Given the description of an element on the screen output the (x, y) to click on. 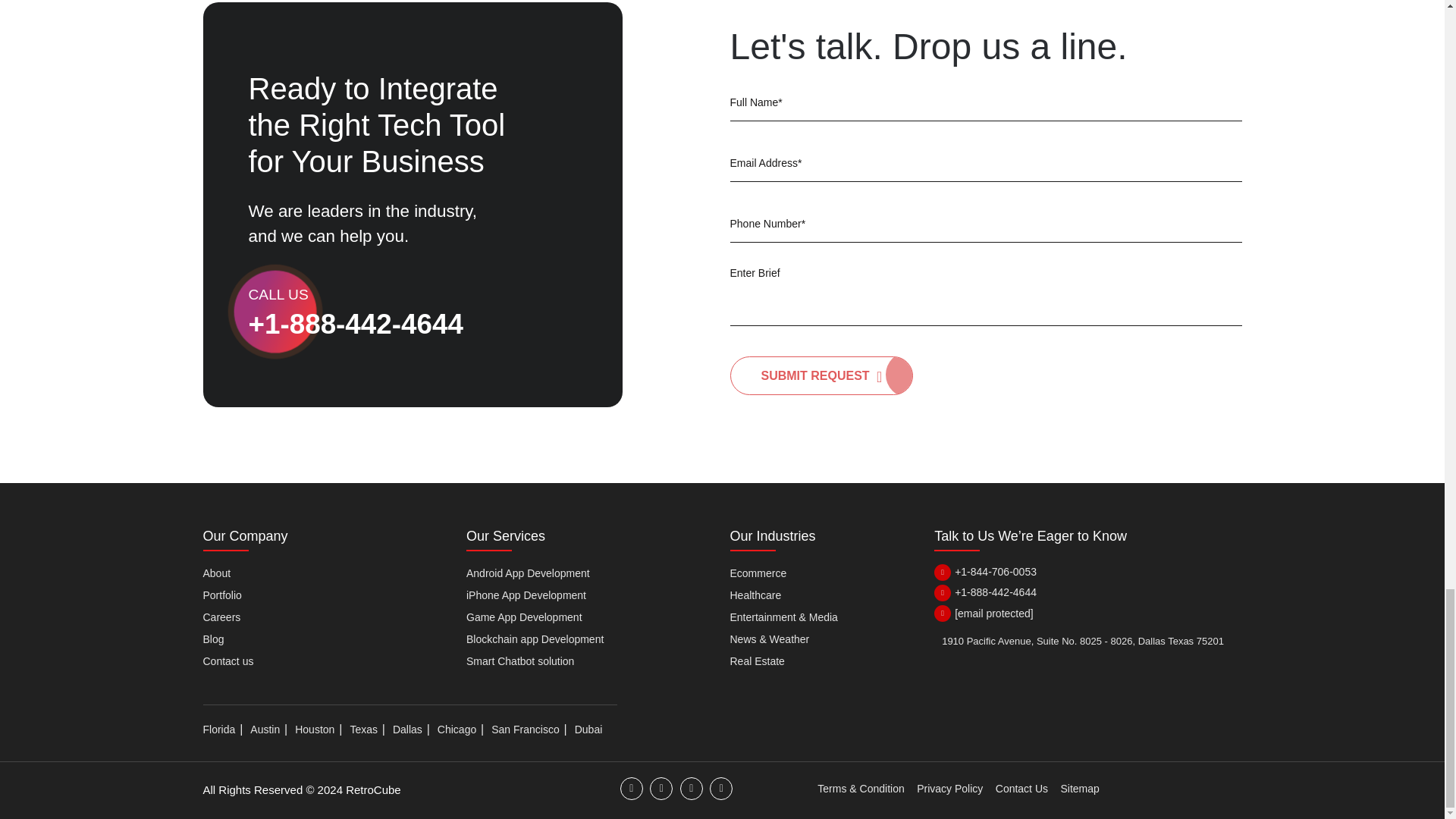
iPhone App Development (525, 594)
Blockchain app Development (534, 639)
About (217, 573)
Blog (213, 639)
Contact us (228, 661)
Careers (222, 616)
SUBMIT REQUEST (820, 375)
Portfolio (222, 594)
Android App Development (527, 573)
Game App Development (523, 616)
